Given the description of an element on the screen output the (x, y) to click on. 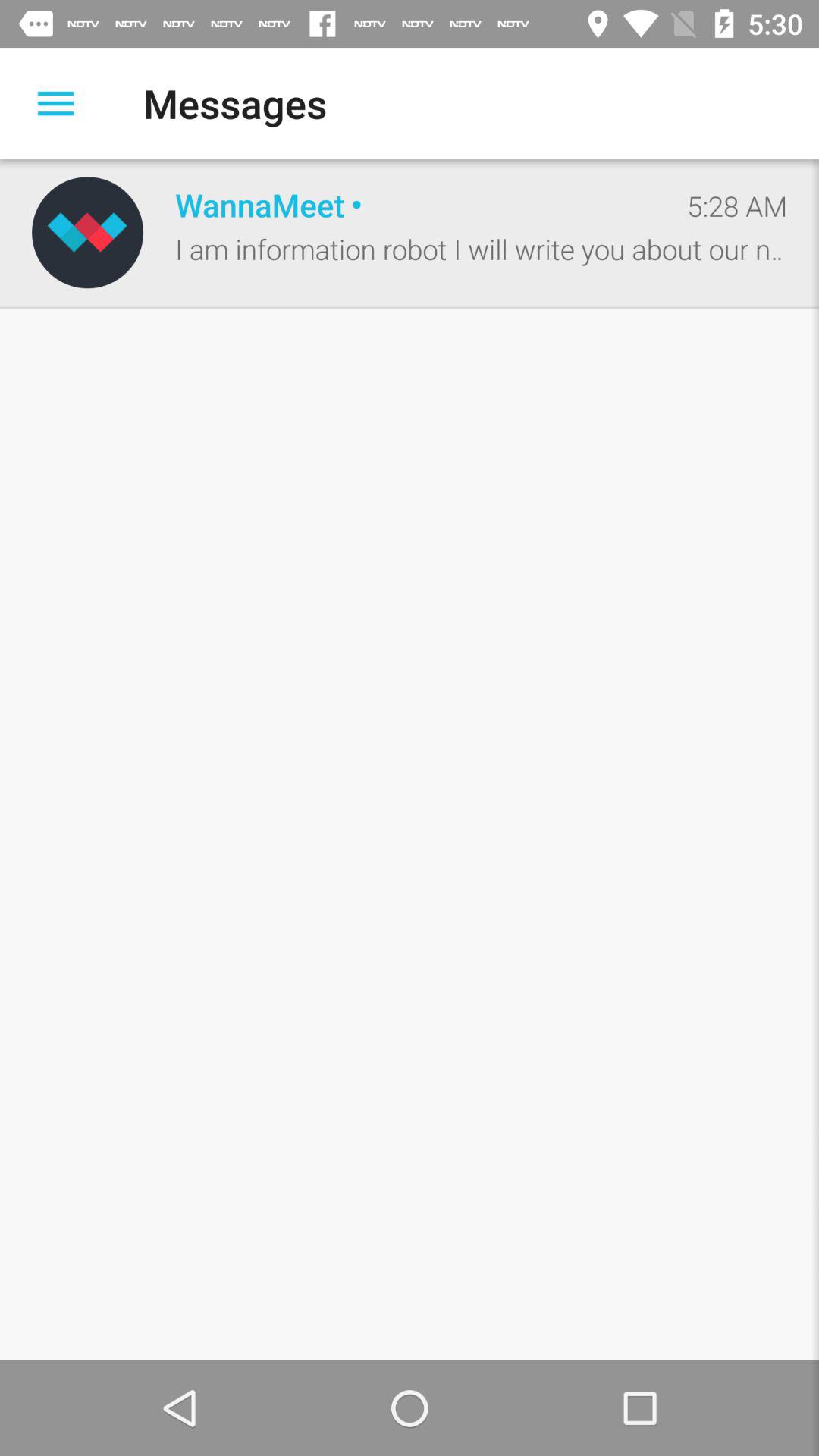
choose 5:28 am icon (737, 205)
